Given the description of an element on the screen output the (x, y) to click on. 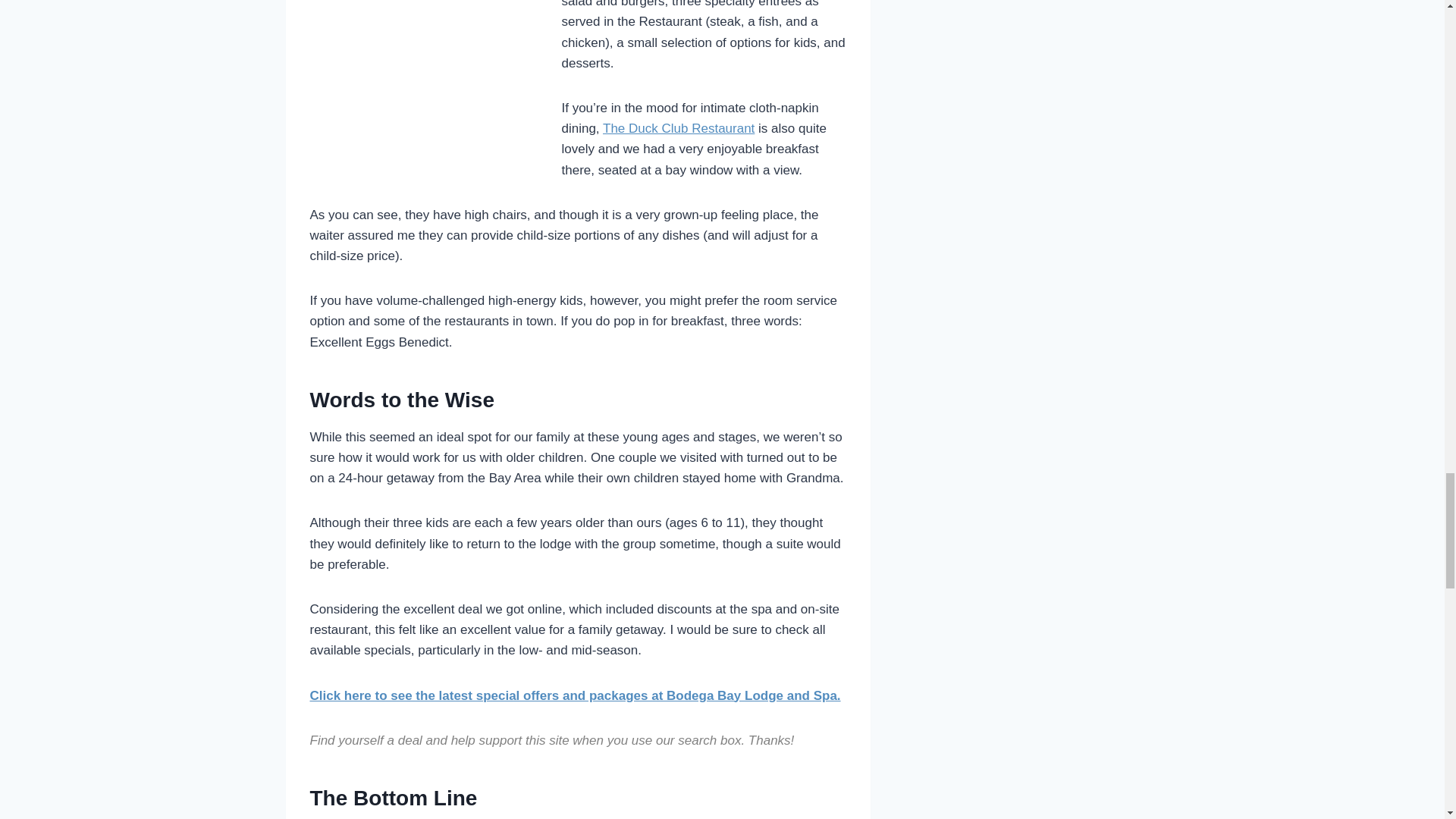
Bodega Bay Lodge dining (678, 128)
The Duck Club Restaurant (678, 128)
Visit Bodega Bay Lodge and Spa website (574, 695)
